Given the description of an element on the screen output the (x, y) to click on. 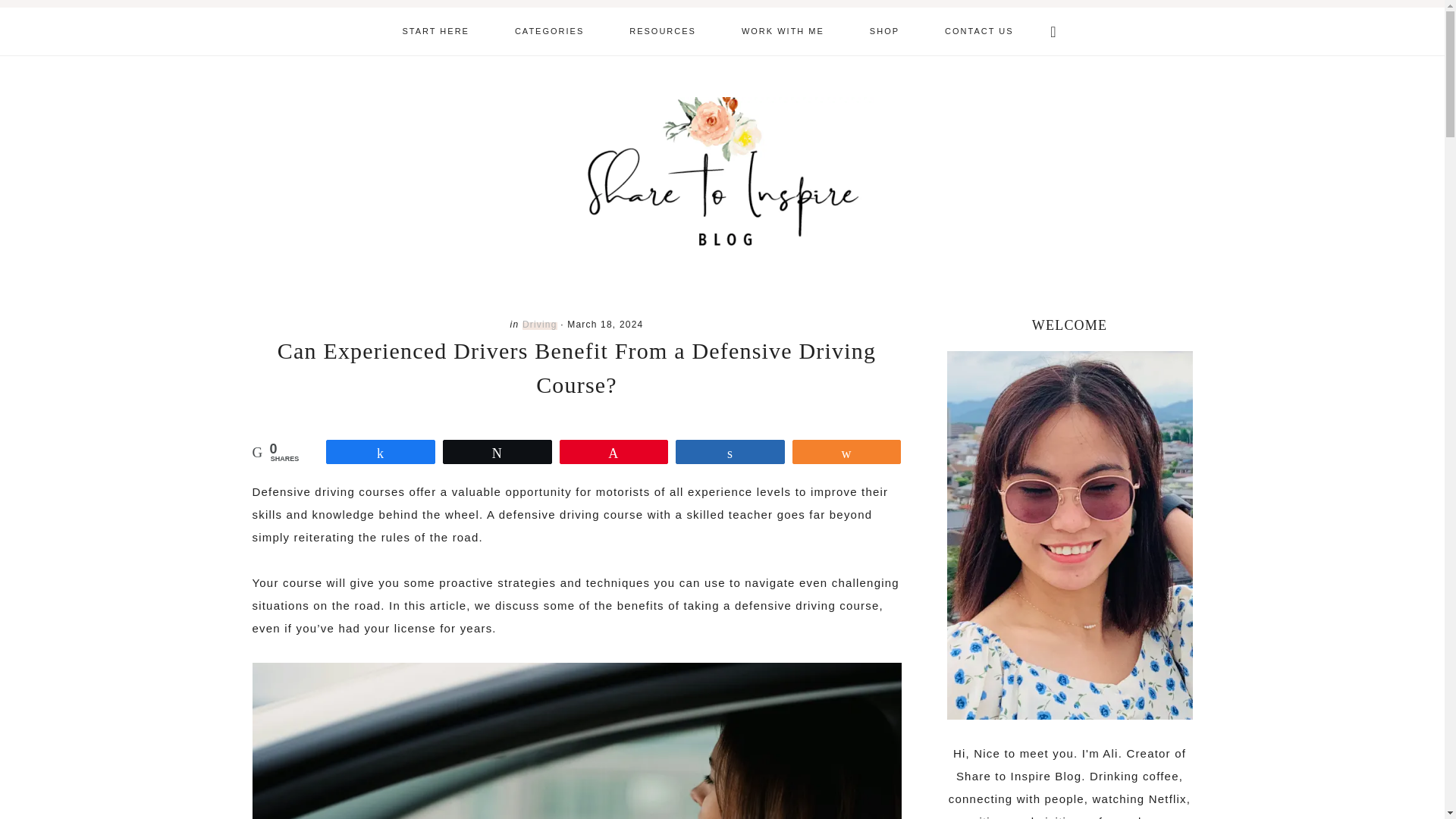
SHOP (884, 31)
WORK WITH ME (783, 31)
RESOURCES (663, 31)
START HERE (435, 31)
CONTACT US (978, 31)
CATEGORIES (549, 31)
